Given the description of an element on the screen output the (x, y) to click on. 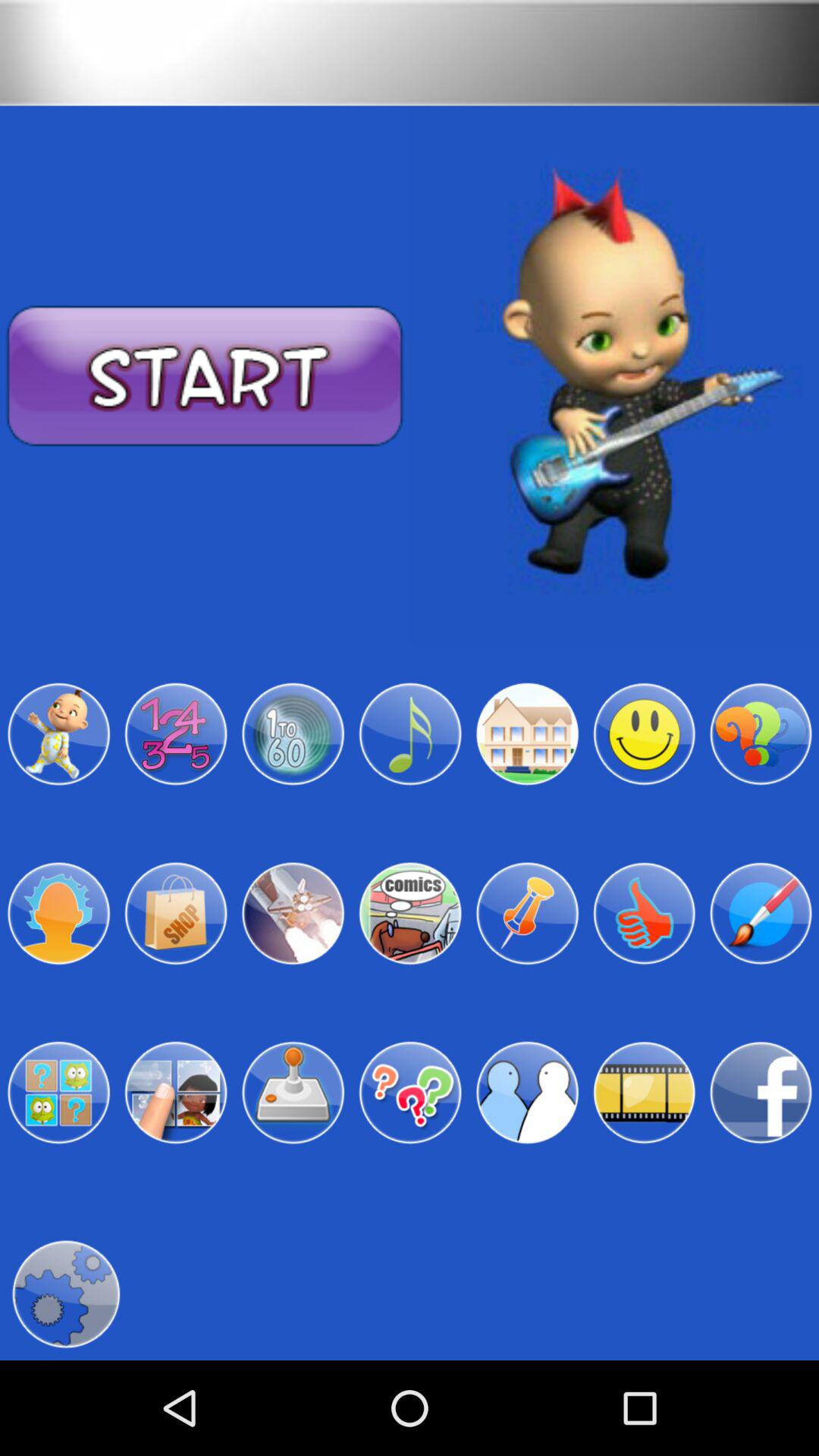
select the baby (58, 734)
